Given the description of an element on the screen output the (x, y) to click on. 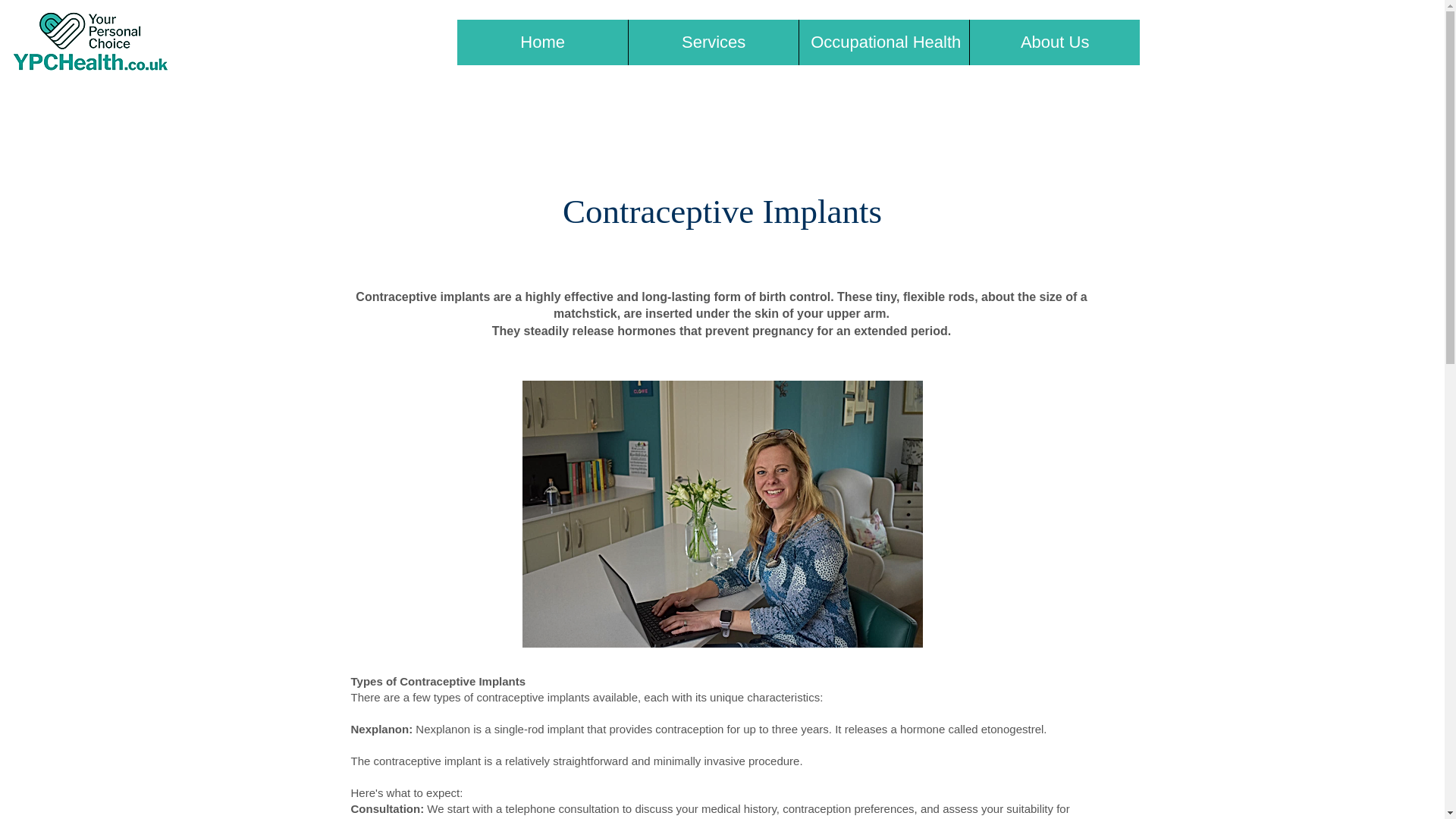
Home (542, 42)
YPCHealth (92, 42)
